Given the description of an element on the screen output the (x, y) to click on. 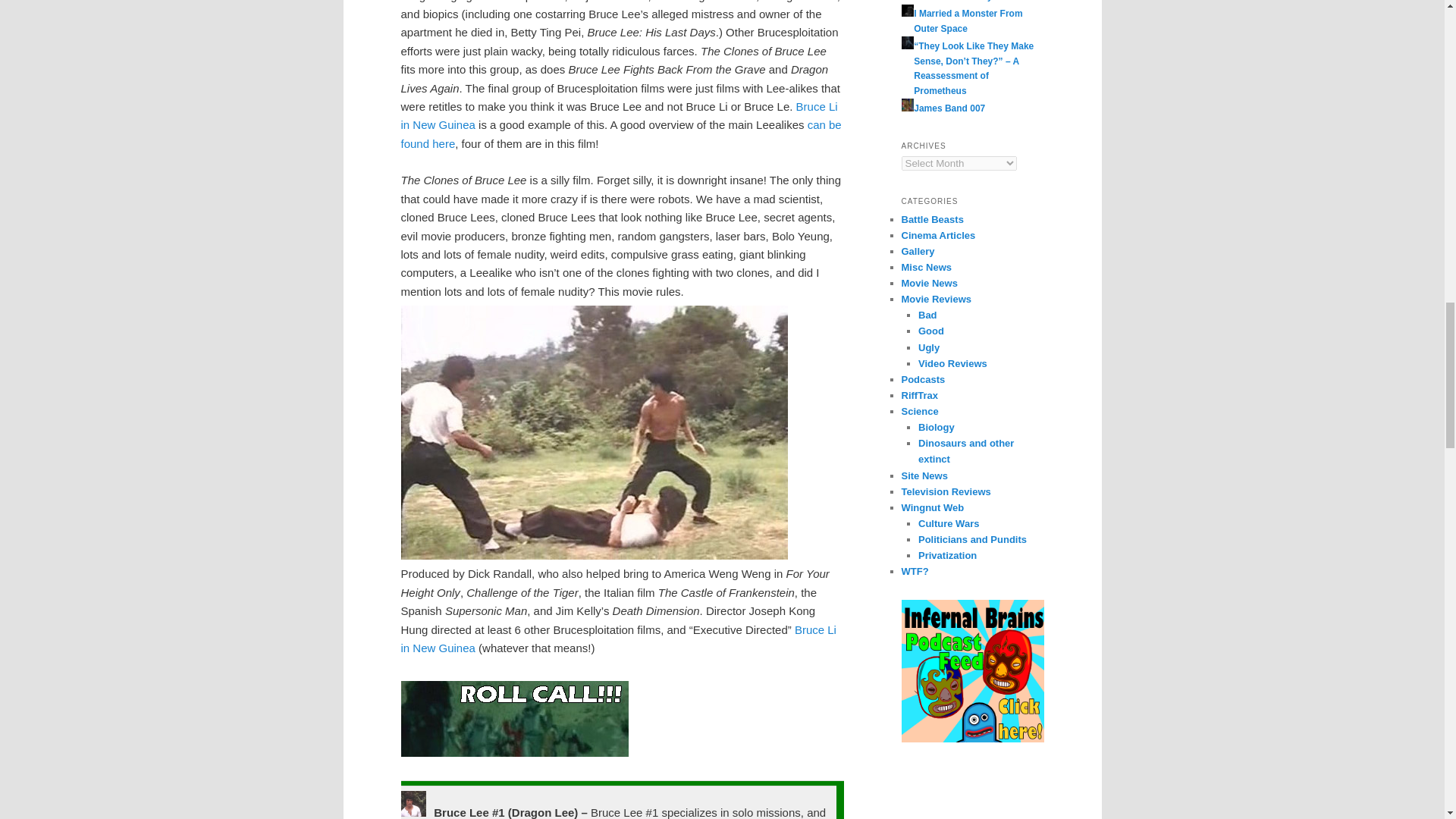
Bruce Li in New Guinea (617, 638)
Bruce Li in New Guinea (618, 115)
can be found here (620, 133)
